Given the description of an element on the screen output the (x, y) to click on. 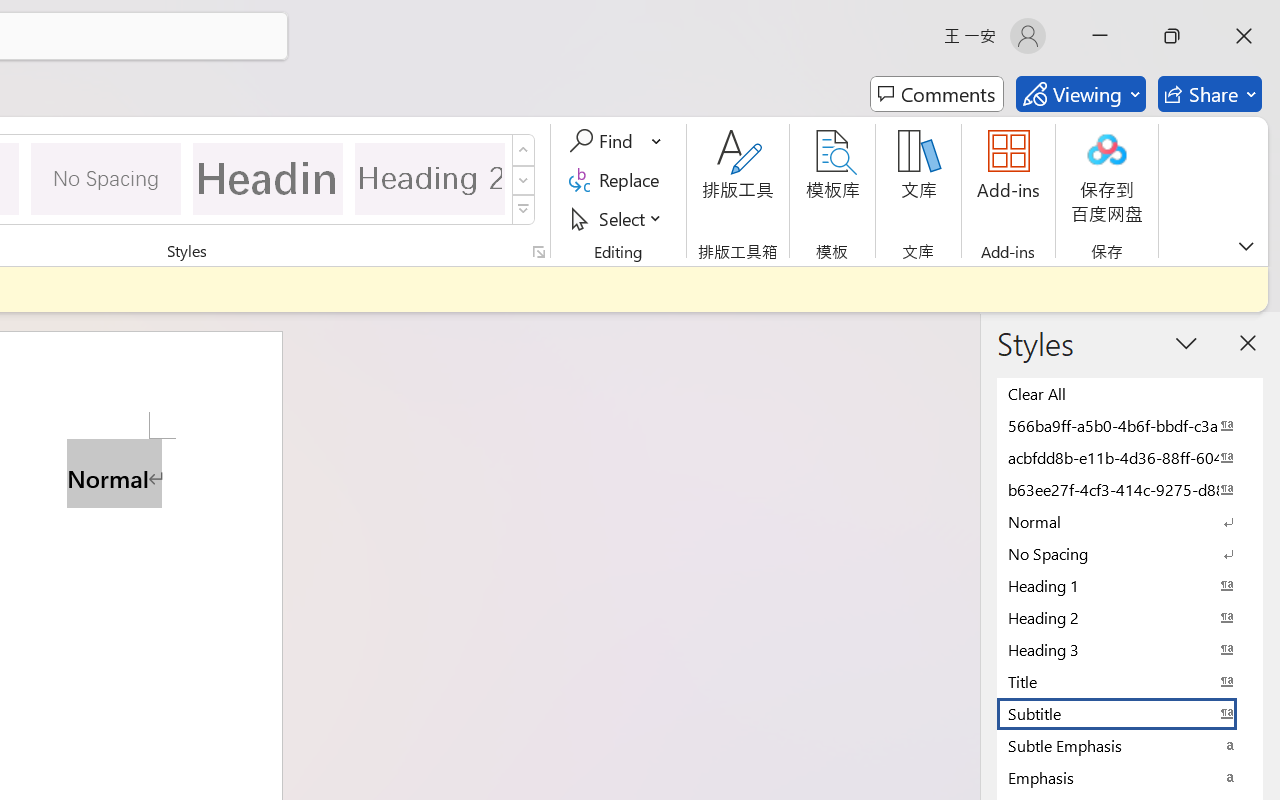
Subtitle (1130, 713)
acbfdd8b-e11b-4d36-88ff-6049b138f862 (1130, 457)
Heading 2 (429, 178)
Normal (1130, 521)
Styles... (538, 252)
Clear All (1130, 393)
Subtle Emphasis (1130, 745)
